Given the description of an element on the screen output the (x, y) to click on. 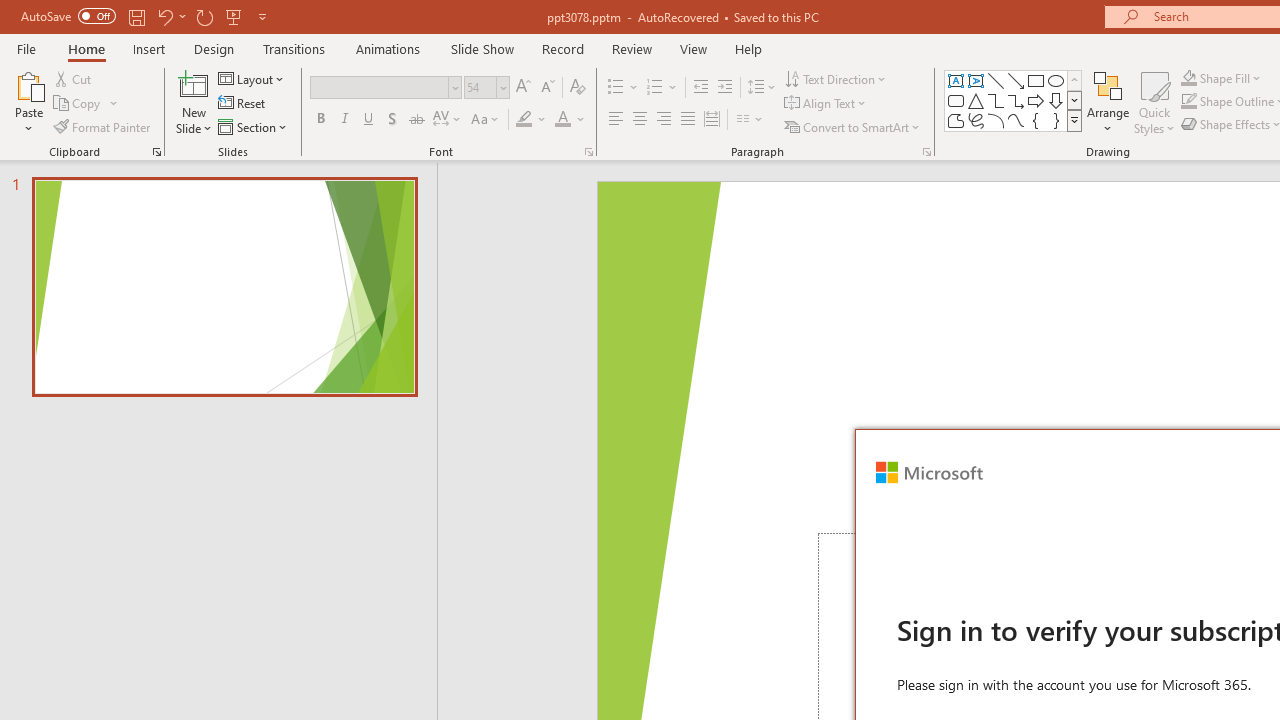
Shape Outline Green, Accent 1 (1188, 101)
